Given the description of an element on the screen output the (x, y) to click on. 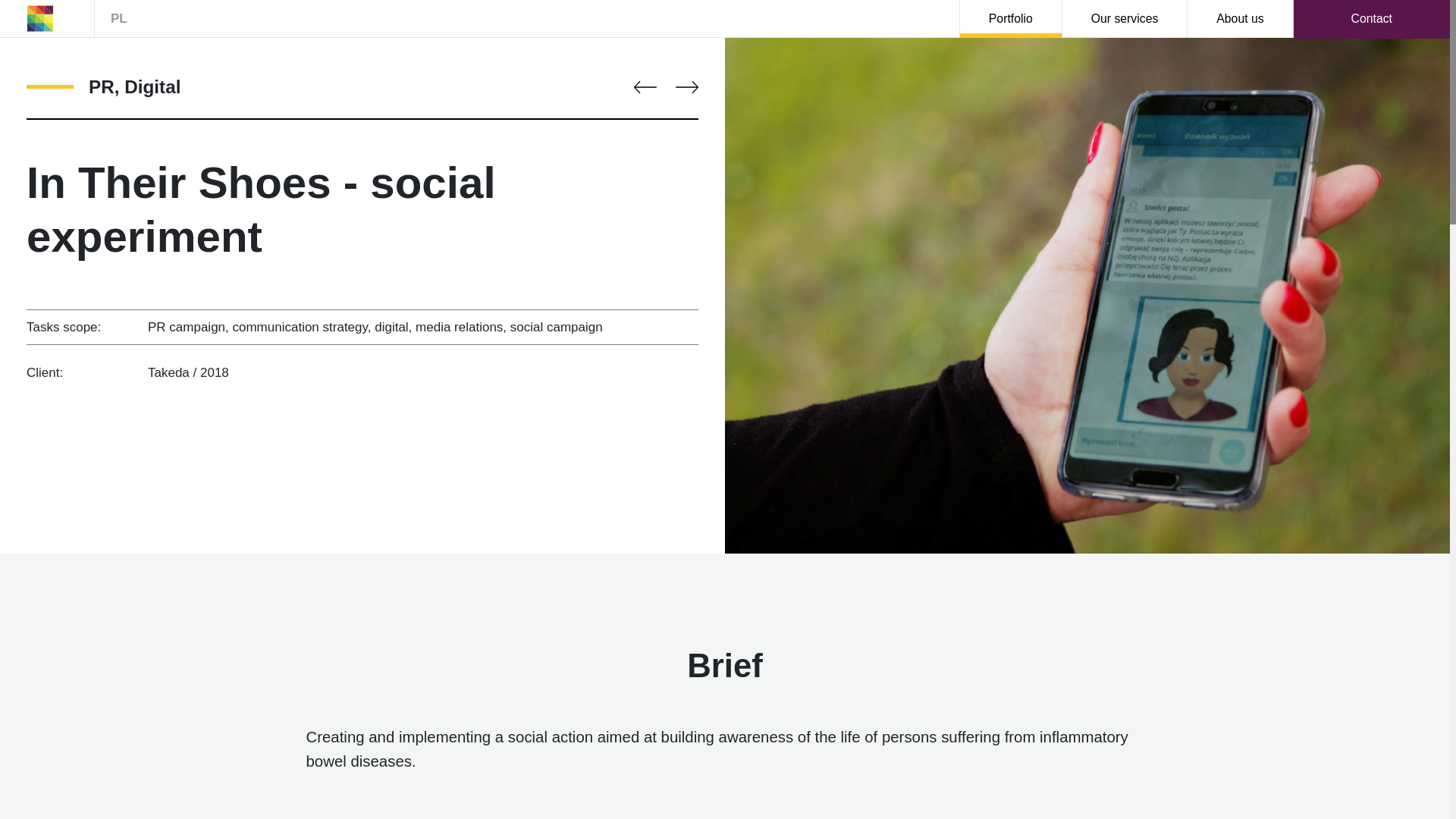
About us (1240, 19)
Portfolio (1010, 19)
PL (118, 19)
Our services (1125, 19)
